Given the description of an element on the screen output the (x, y) to click on. 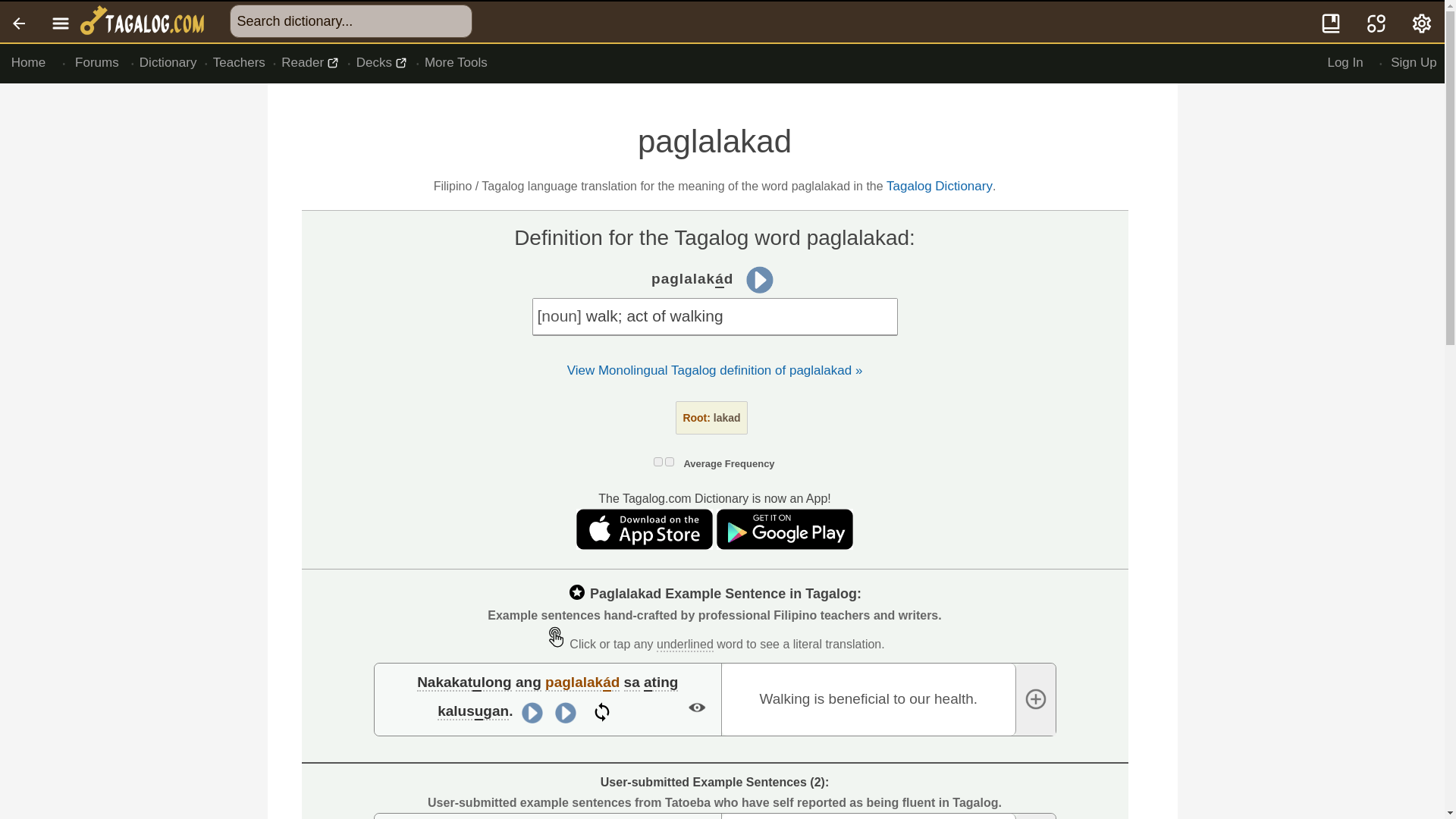
Back Link (19, 21)
Forums (96, 62)
Log In (1345, 62)
My Account (1422, 21)
iOS App (646, 545)
Root: lakad (710, 417)
Decks (381, 62)
Reader (310, 62)
Translate To English (1376, 21)
Tagalog Logo (144, 21)
